Given the description of an element on the screen output the (x, y) to click on. 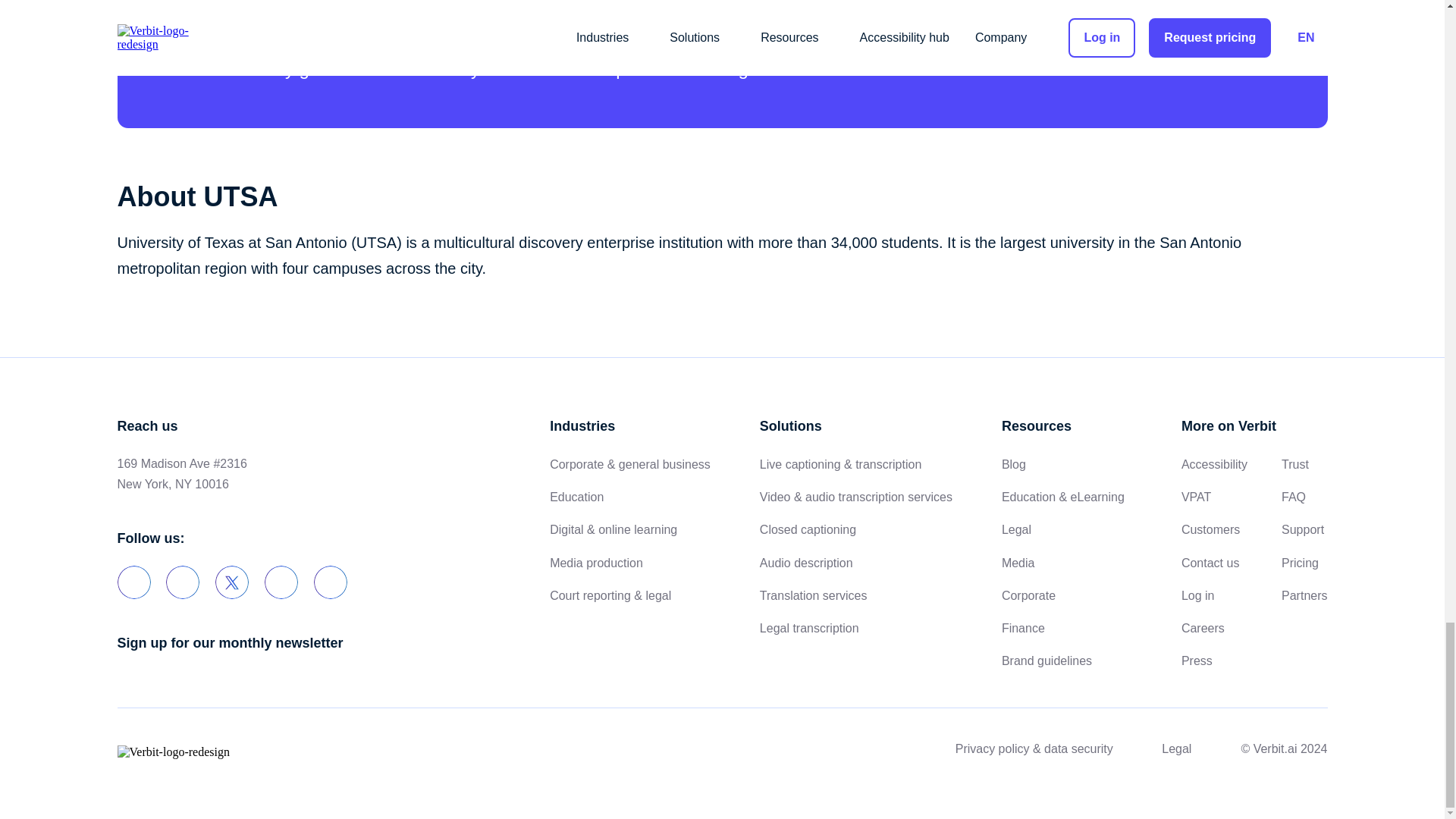
Facebook (182, 581)
Page 2 (721, 255)
Linkedin (132, 581)
YouTube (281, 581)
Twitter (231, 581)
Instagram (330, 581)
